Given the description of an element on the screen output the (x, y) to click on. 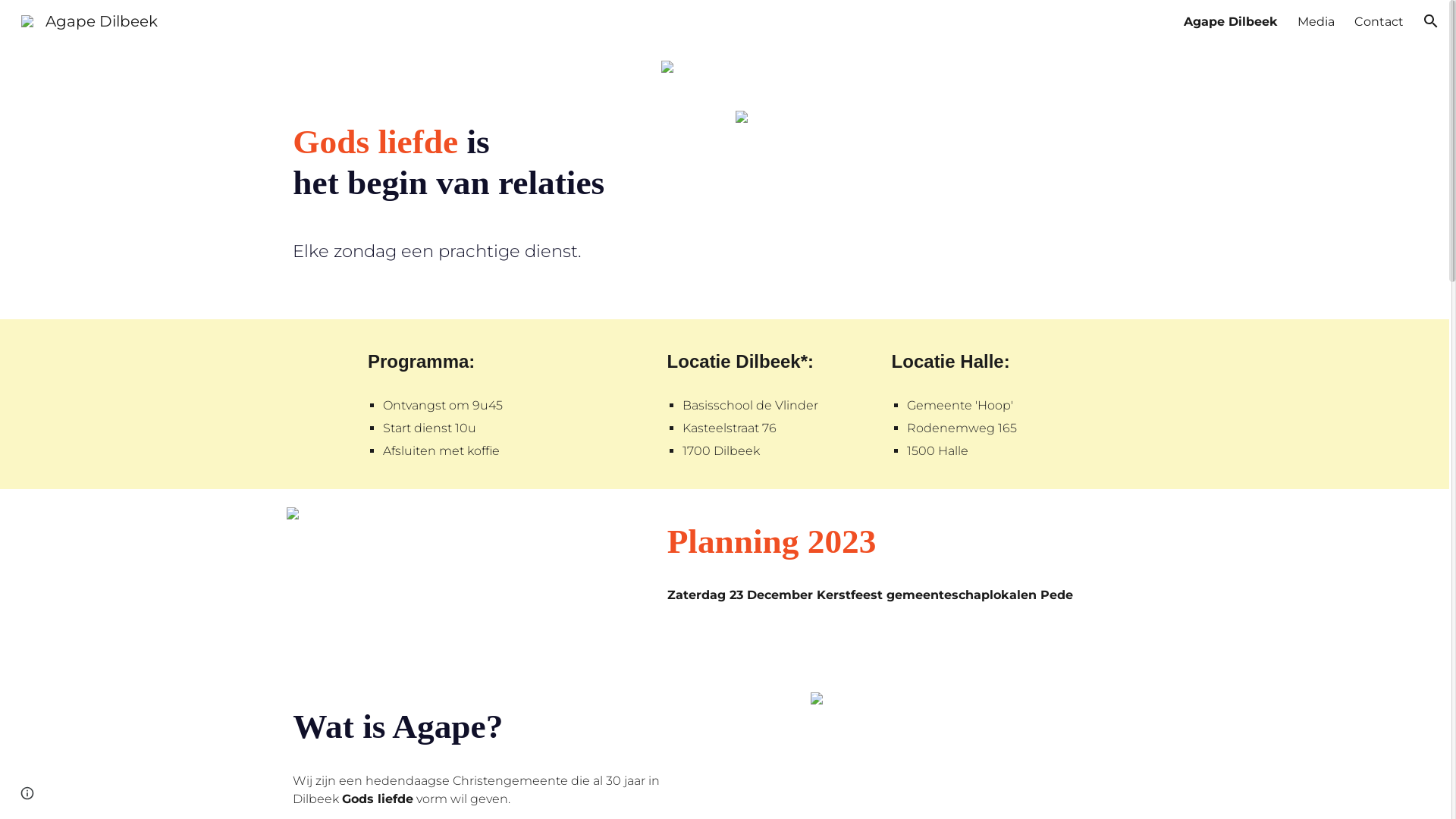
Media Element type: text (1315, 20)
Agape Dilbeek Element type: text (1230, 20)
Agape Dilbeek Element type: text (89, 19)
Contact Element type: text (1378, 20)
